Given the description of an element on the screen output the (x, y) to click on. 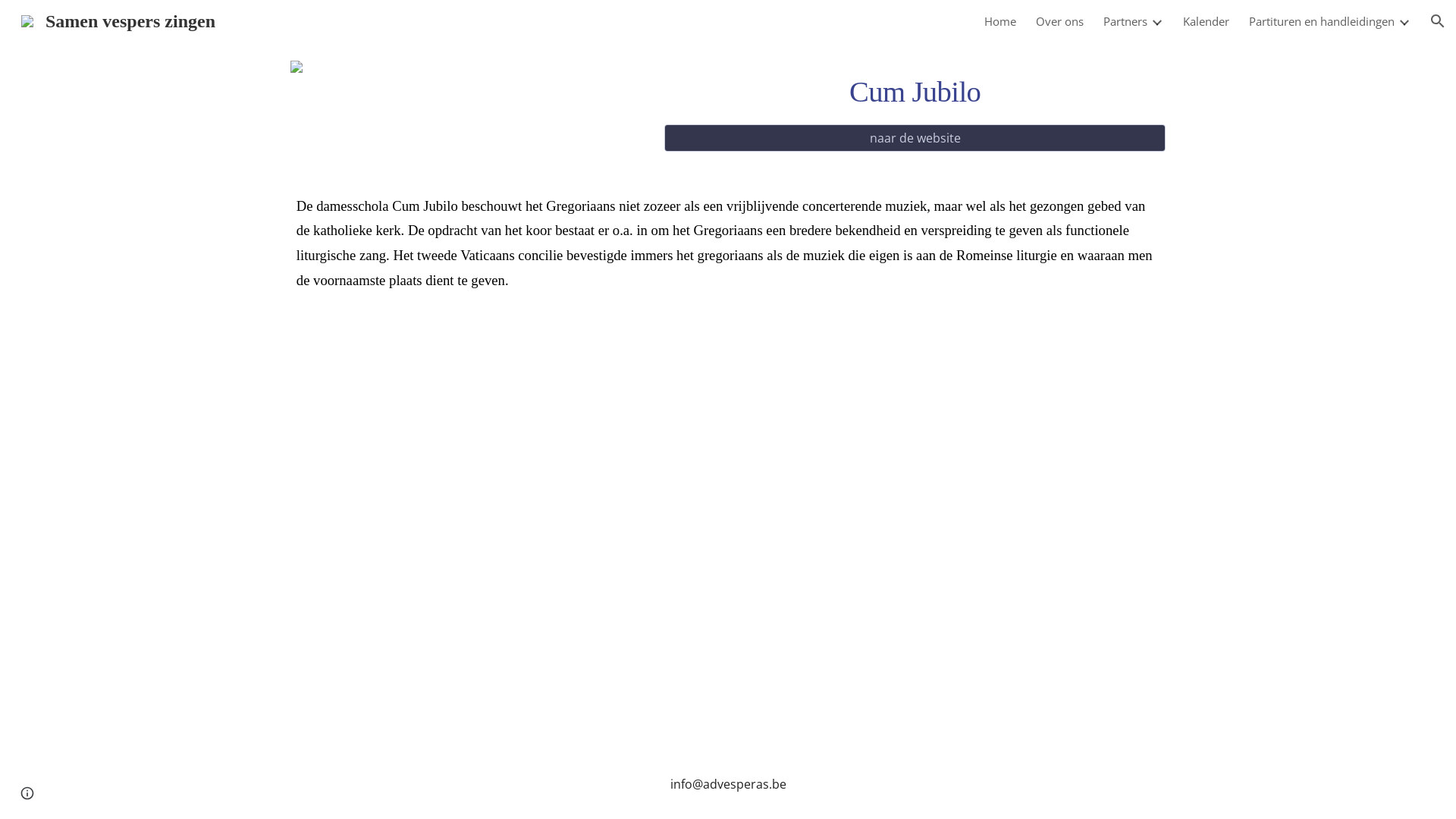
Partituren en handleidingen Element type: text (1321, 20)
naar de website Element type: text (914, 137)
Expand/Collapse Element type: hover (1156, 20)
Samen vespers zingen Element type: text (118, 19)
Home Element type: text (1000, 20)
Expand/Collapse Element type: hover (1403, 20)
Partners Element type: text (1125, 20)
Kalender Element type: text (1206, 20)
Over ons Element type: text (1059, 20)
